Given the description of an element on the screen output the (x, y) to click on. 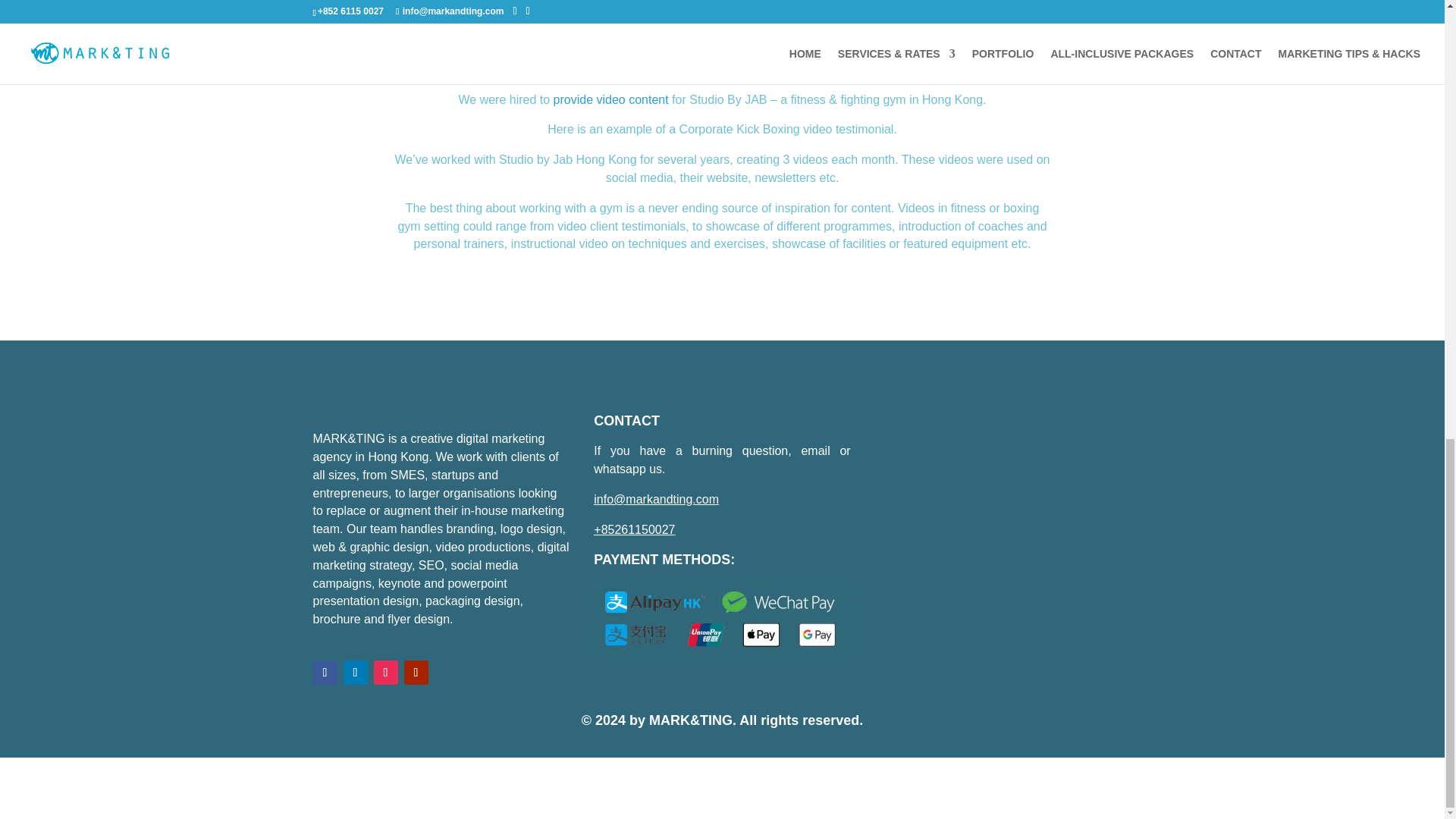
Follow on Facebook (324, 672)
provide video content (610, 99)
Follow on Instagram (384, 672)
Follow on LinkedIn (354, 672)
MARKTING-location-map-2 (1002, 541)
Follow on Youtube (415, 672)
